Given the description of an element on the screen output the (x, y) to click on. 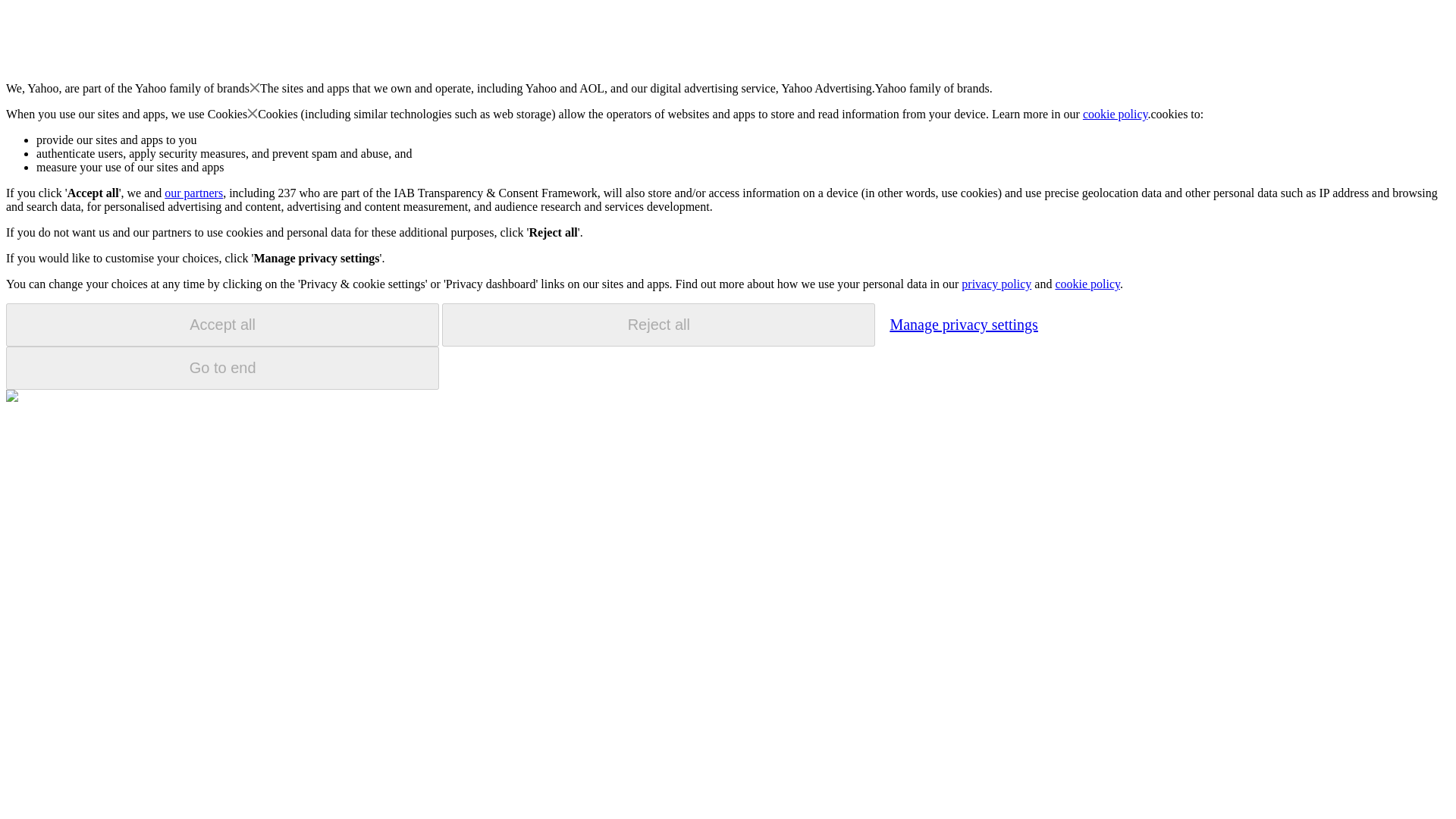
our partners (193, 192)
privacy policy (995, 283)
cookie policy (1115, 113)
Manage privacy settings (963, 323)
Accept all (222, 324)
cookie policy (1086, 283)
Go to end (222, 367)
Reject all (658, 324)
